Given the description of an element on the screen output the (x, y) to click on. 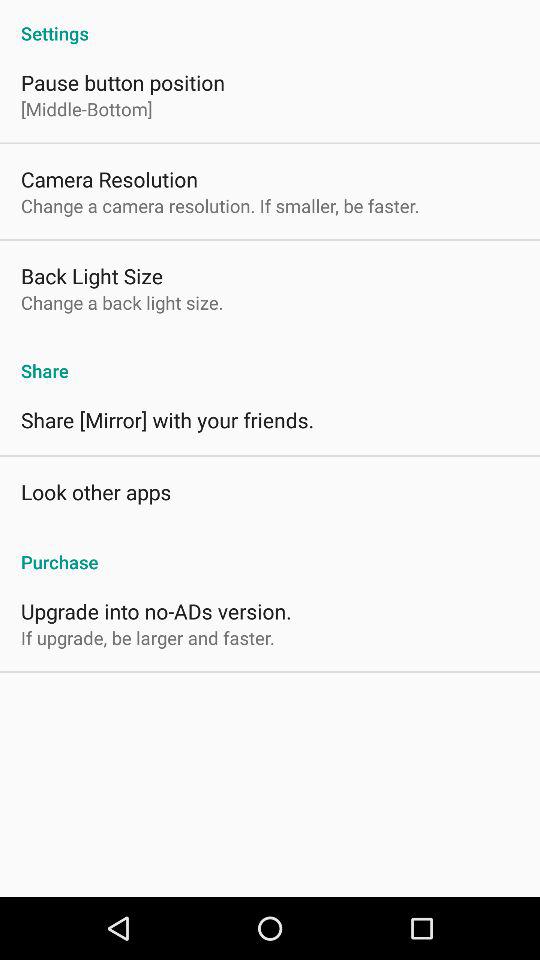
tap icon below settings icon (122, 82)
